Given the description of an element on the screen output the (x, y) to click on. 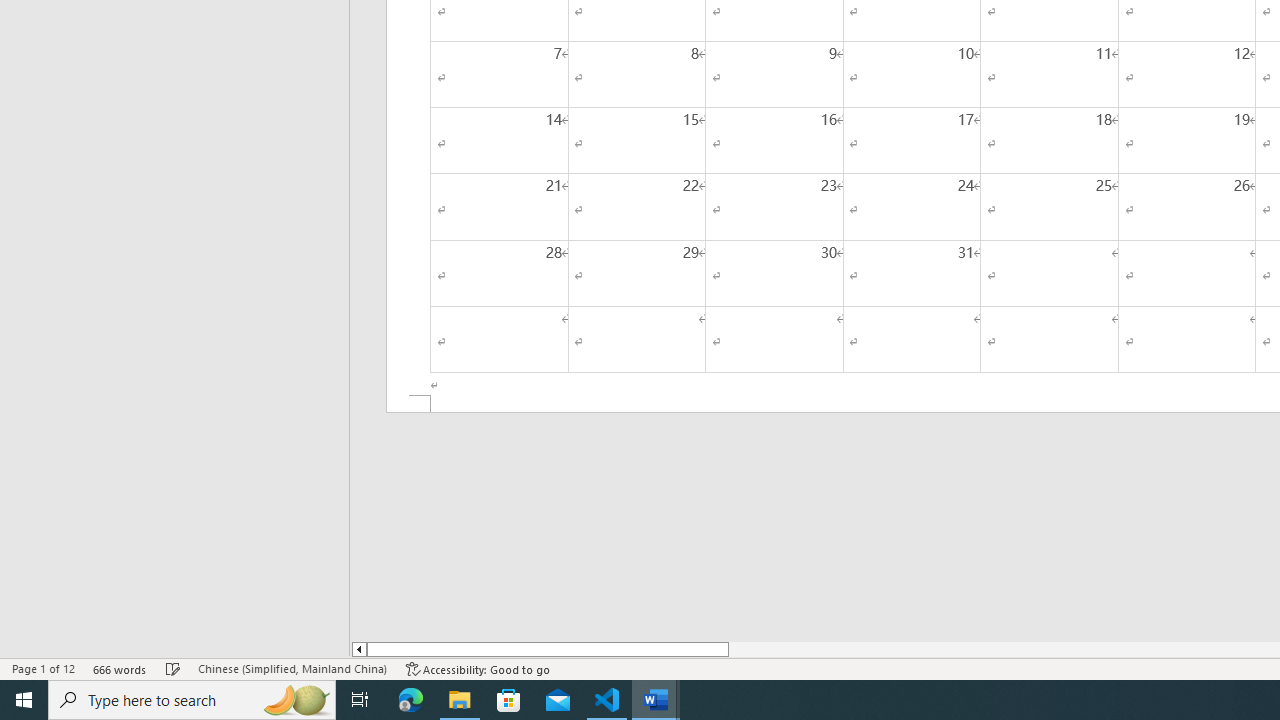
Language Chinese (Simplified, Mainland China) (292, 668)
Accessibility Checker Accessibility: Good to go (478, 668)
Word Count 666 words (119, 668)
Page Number Page 1 of 12 (43, 668)
Column left (358, 649)
Spelling and Grammar Check Checking (173, 668)
